Given the description of an element on the screen output the (x, y) to click on. 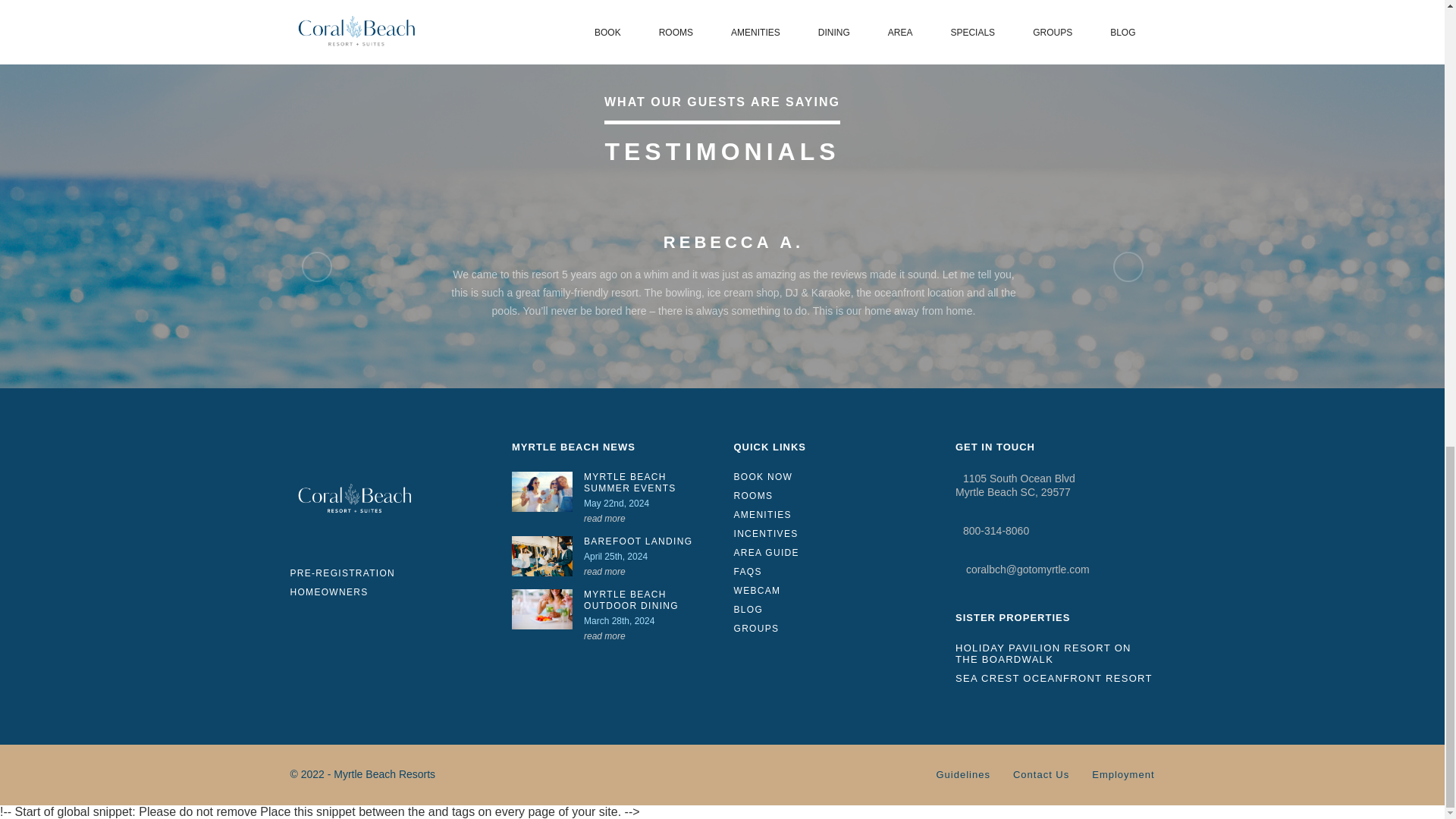
read more (604, 635)
read more (604, 518)
BOOK NOW (833, 477)
PRE-REGISTRATION (341, 573)
BAREFOOT LANDING (647, 541)
INCENTIVES (833, 533)
ROOMS (833, 496)
AMENITIES (833, 514)
MYRTLE BEACH SUMMER EVENTS (647, 482)
MYRTLE BEACH OUTDOOR DINING (647, 599)
read more (604, 571)
HOMEOWNERS (341, 592)
